Given the description of an element on the screen output the (x, y) to click on. 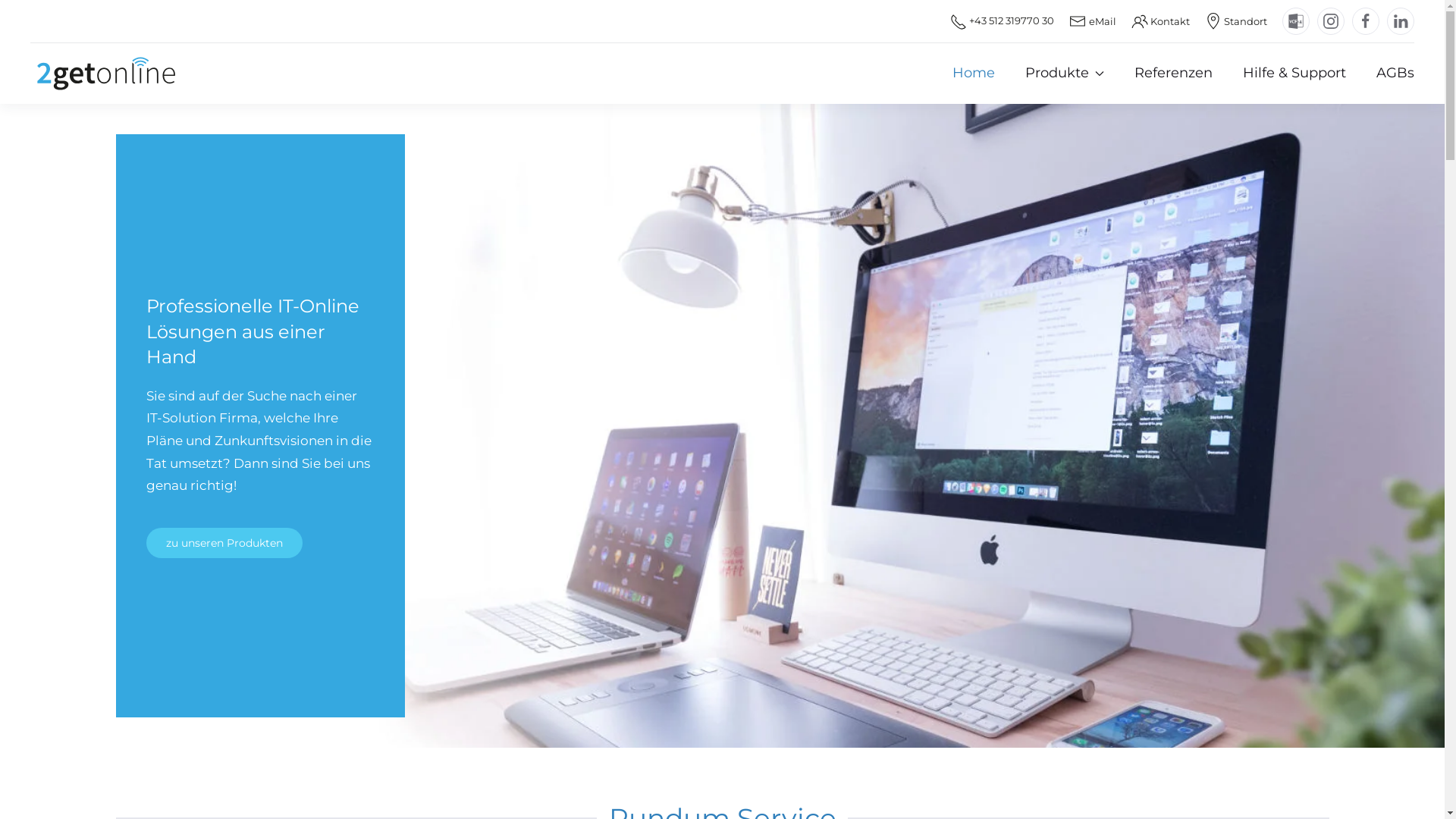
Home Element type: text (973, 73)
Kontaktdaten speichern Element type: hover (1295, 20)
Produkte Element type: text (1064, 73)
Hilfe & Support Element type: text (1294, 73)
Standort Element type: text (1235, 21)
zu unseren Produkten Element type: text (223, 542)
Referenzen Element type: text (1173, 73)
Kontakt Element type: text (1160, 21)
AGBs Element type: text (1395, 73)
eMail Element type: text (1092, 21)
